Given the description of an element on the screen output the (x, y) to click on. 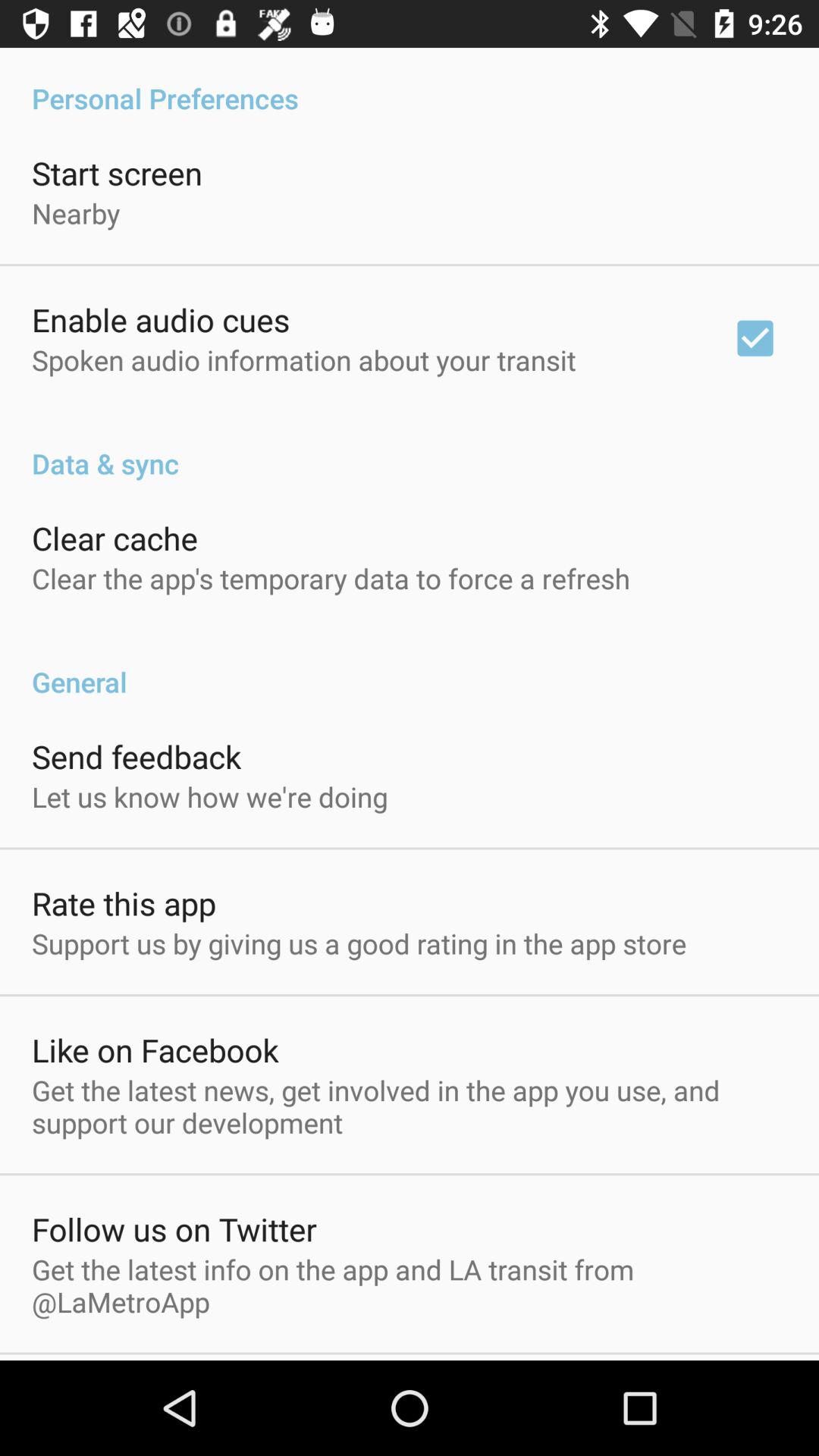
tap data & sync app (409, 447)
